Given the description of an element on the screen output the (x, y) to click on. 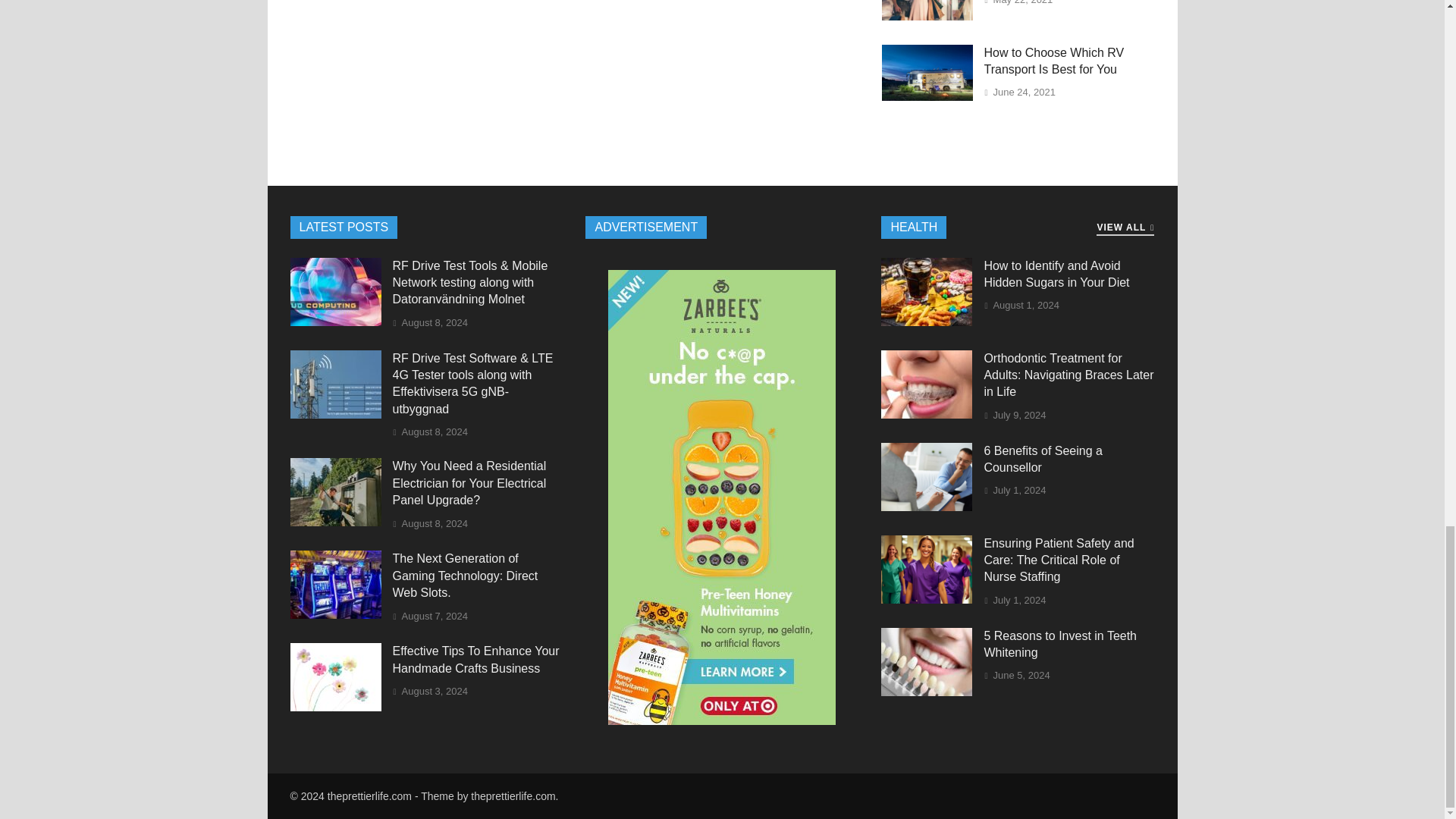
6 Benefits of Seeing a Counsellor (926, 506)
The Next Generation of Gaming Technology: Direct Web Slots. (334, 614)
How to Choose Which RV Transport Is Best for You (927, 96)
How to Identify and Avoid Hidden Sugars in Your Diet (926, 321)
Some Pros and cons for Journeys To Promote Online (927, 15)
